Given the description of an element on the screen output the (x, y) to click on. 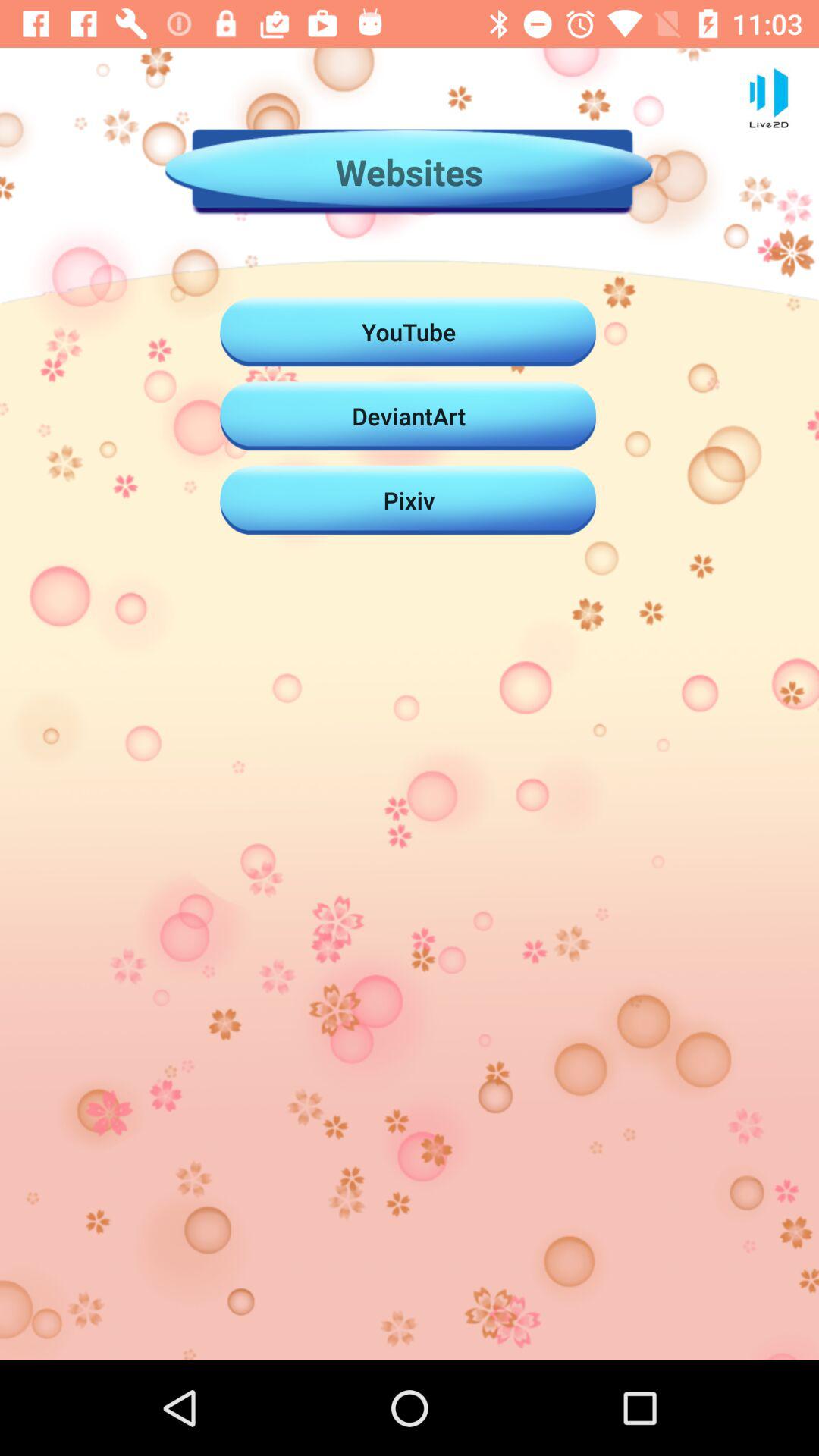
choose youtube icon (409, 331)
